Given the description of an element on the screen output the (x, y) to click on. 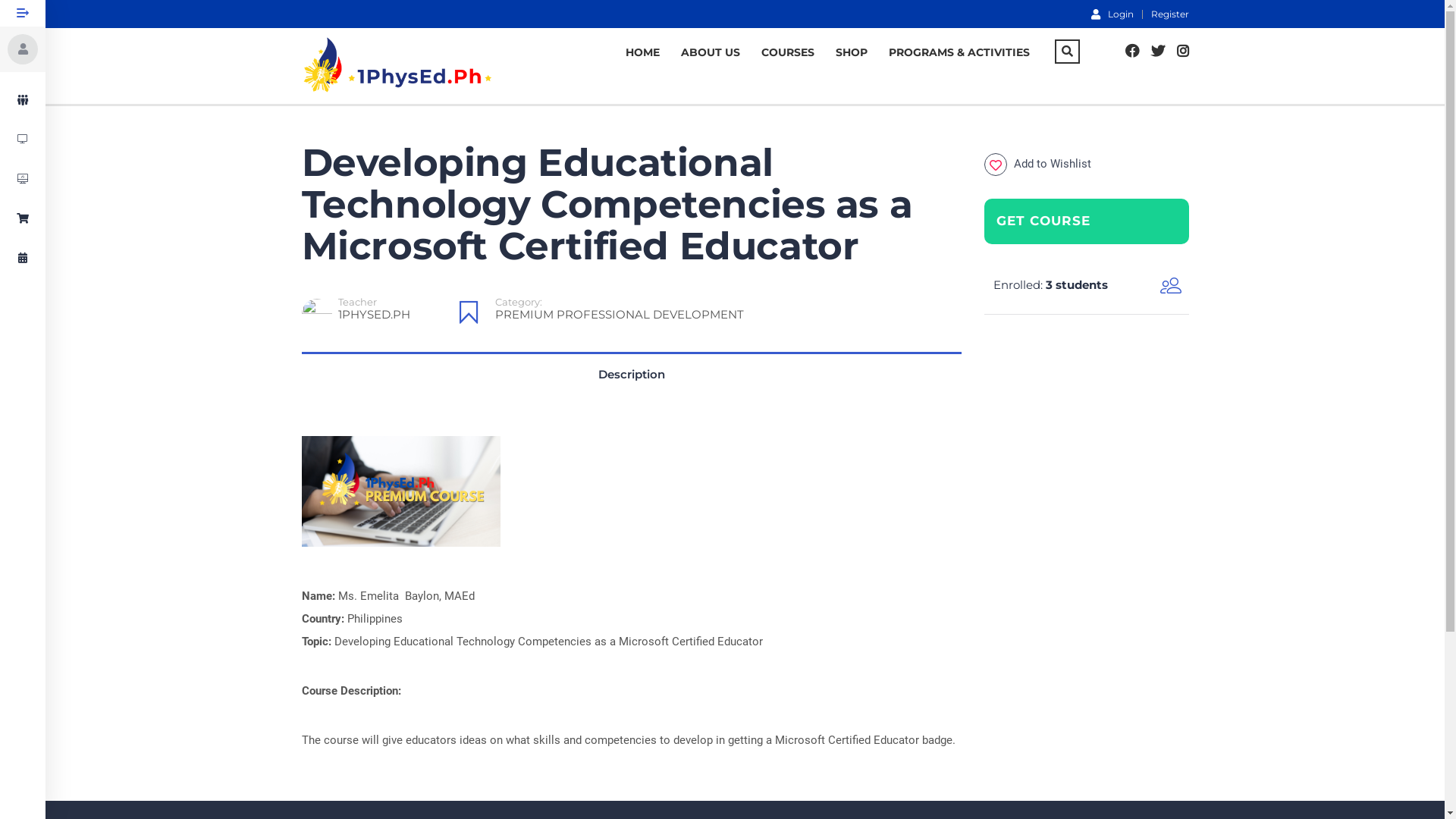
Login Element type: text (1111, 13)
Description Element type: text (631, 374)
Register Element type: text (1170, 13)
ABOUT US Element type: text (710, 52)
HOME Element type: text (641, 52)
SHOP Element type: text (851, 52)
PREMIUM PROFESSIONAL DEVELOPMENT Element type: text (618, 314)
PROGRAMS & ACTIVITIES Element type: text (958, 52)
Teacher
1PHYSED.PH Element type: text (376, 313)
Add to Wishlist Element type: text (1037, 163)
COURSES Element type: text (787, 52)
